Given the description of an element on the screen output the (x, y) to click on. 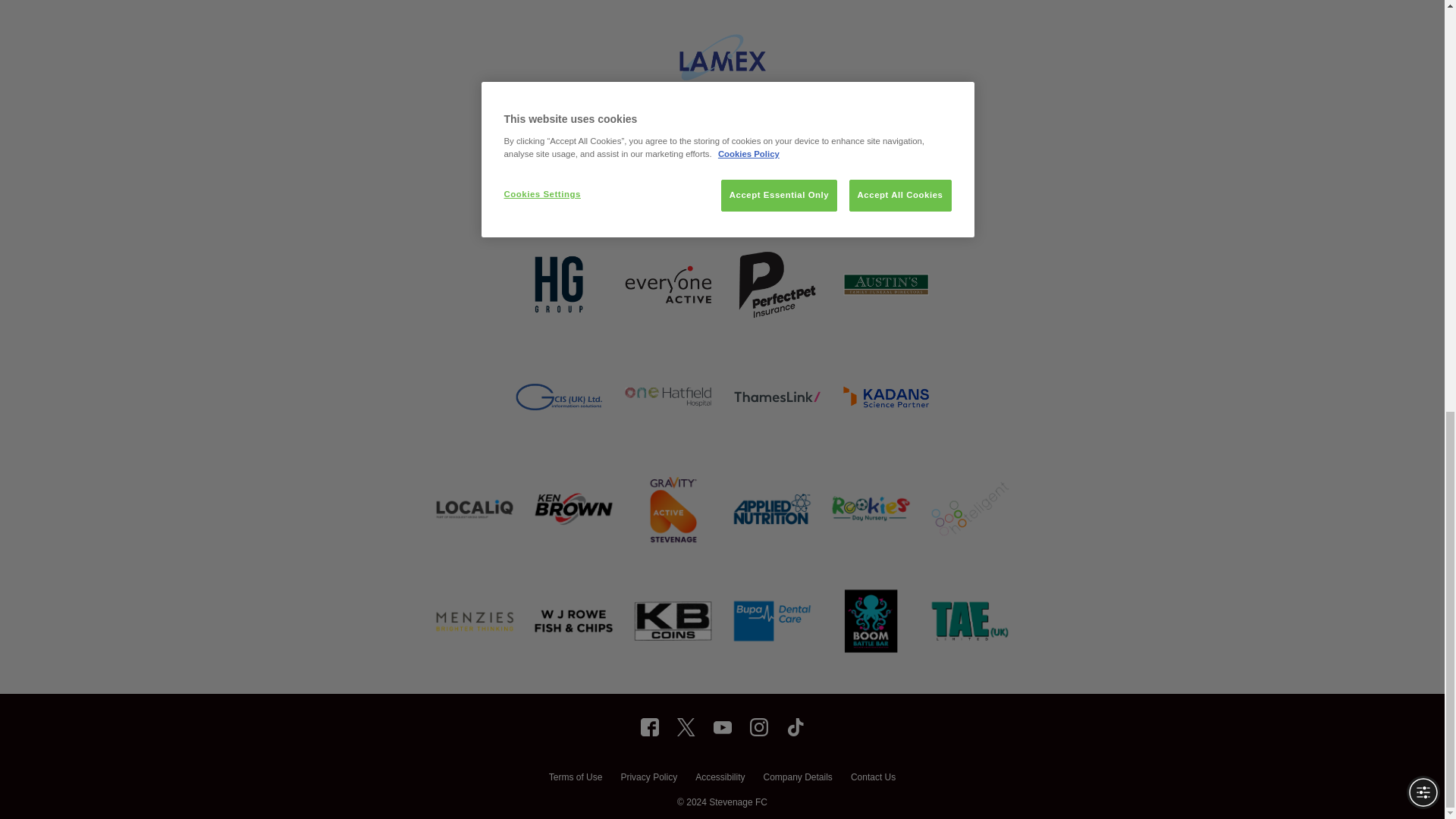
Terms of Use (575, 779)
Accessibility (719, 779)
Privacy Policy (648, 779)
Contact Us (872, 779)
Company Details (796, 779)
StevenageFCOfficial (649, 727)
